Given the description of an element on the screen output the (x, y) to click on. 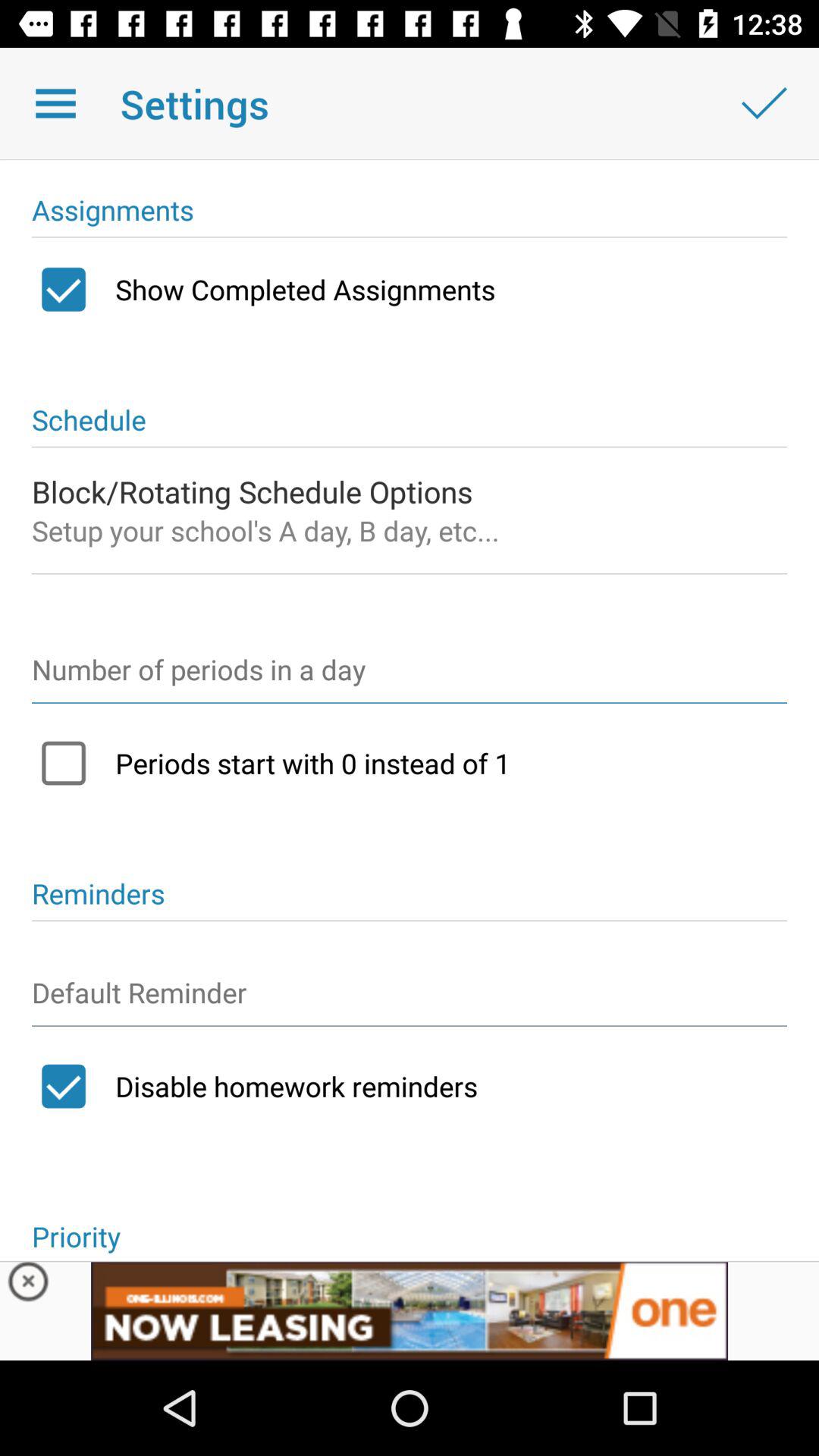
close advertisement (28, 1285)
